Given the description of an element on the screen output the (x, y) to click on. 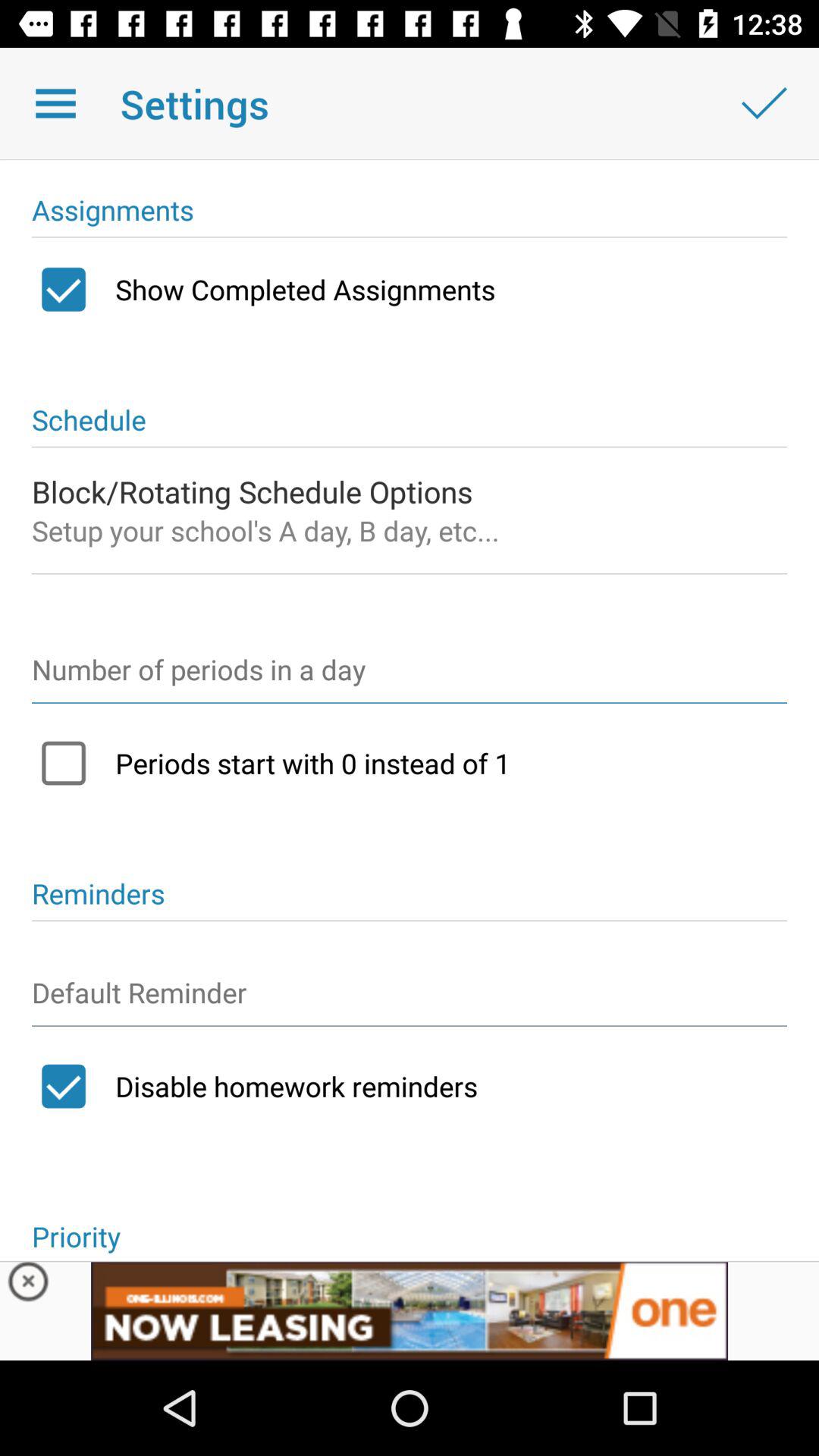
close advertisement (28, 1285)
